Given the description of an element on the screen output the (x, y) to click on. 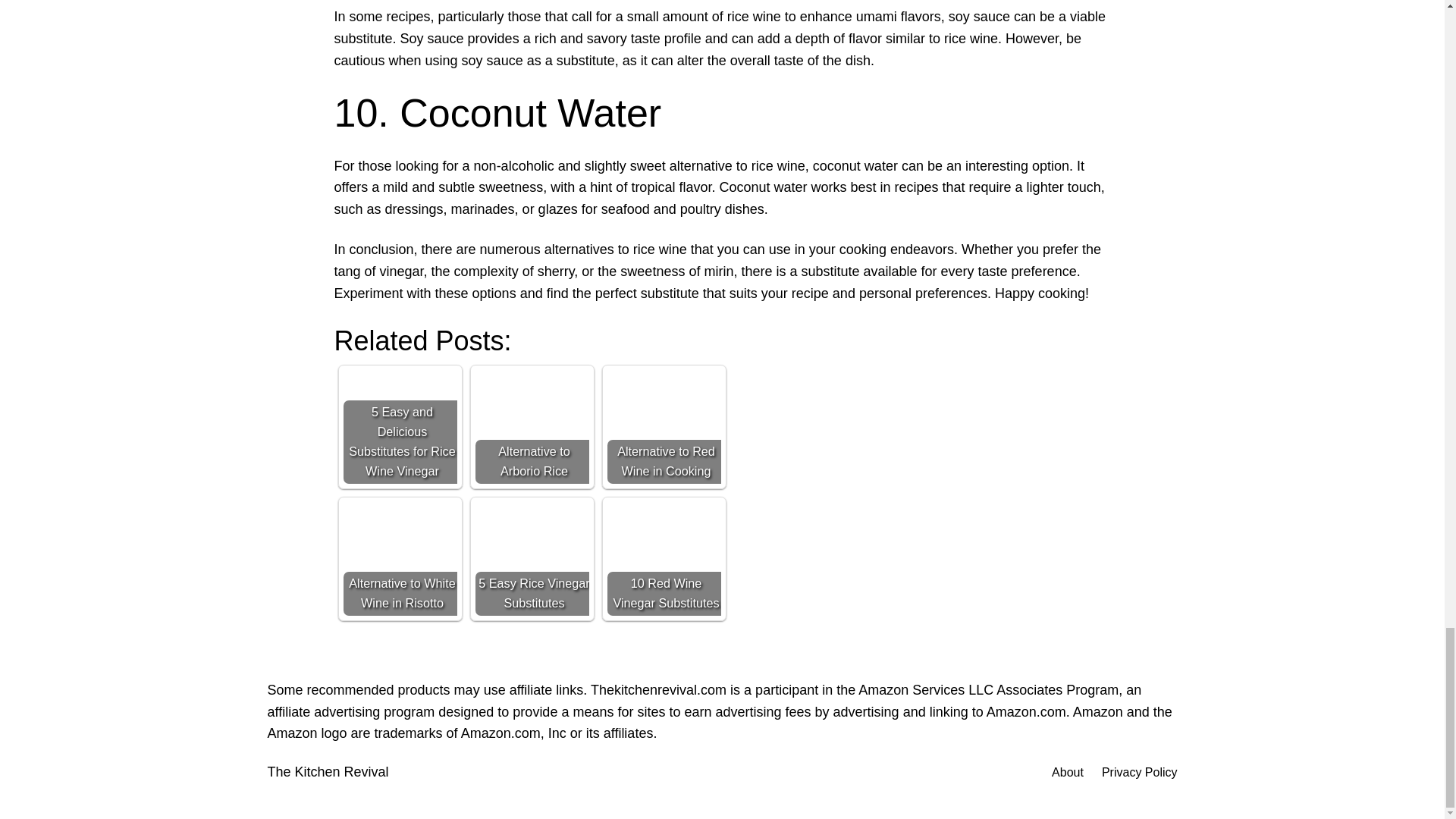
Alternative to Arborio Rice (531, 427)
About (1067, 772)
Alternative to Red Wine in Cooking (663, 427)
Privacy Policy (1139, 772)
10 Red Wine Vinegar Substitutes (663, 558)
Alternative to Arborio Rice (531, 427)
5 Easy Rice Vinegar Substitutes (531, 558)
10 Red Wine Vinegar Substitutes (663, 558)
5 Easy Rice Vinegar Substitutes (531, 558)
Alternative to White Wine in Risotto (399, 558)
5 Easy and Delicious Substitutes for Rice Wine Vinegar (399, 427)
5 Easy and Delicious Substitutes for Rice Wine Vinegar (399, 427)
The Kitchen Revival (327, 771)
Alternative to White Wine in Risotto (399, 558)
Alternative to Red Wine in Cooking (663, 427)
